Given the description of an element on the screen output the (x, y) to click on. 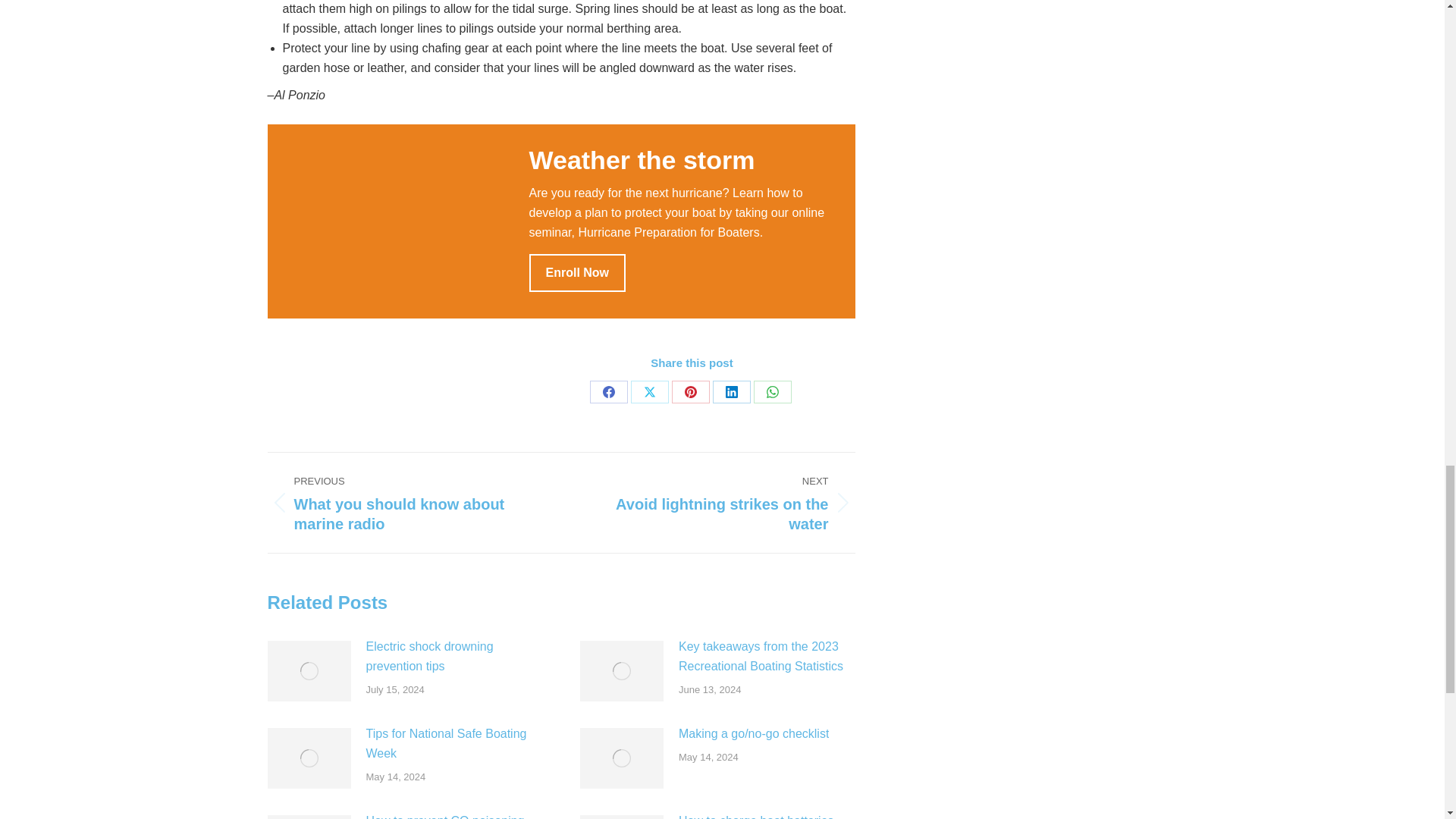
Electric shock drowning prevention tips (453, 656)
Share on WhatsApp (773, 391)
WhatsApp (773, 391)
Share on Pinterest (690, 391)
Enroll Now (577, 272)
Share on X (649, 391)
Pinterest (690, 391)
Share on LinkedIn (732, 391)
X (649, 391)
LinkedIn (732, 391)
Facebook (719, 502)
Share on Facebook (608, 391)
Key takeaways from the 2023 Recreational Boating Statistics (608, 391)
